Given the description of an element on the screen output the (x, y) to click on. 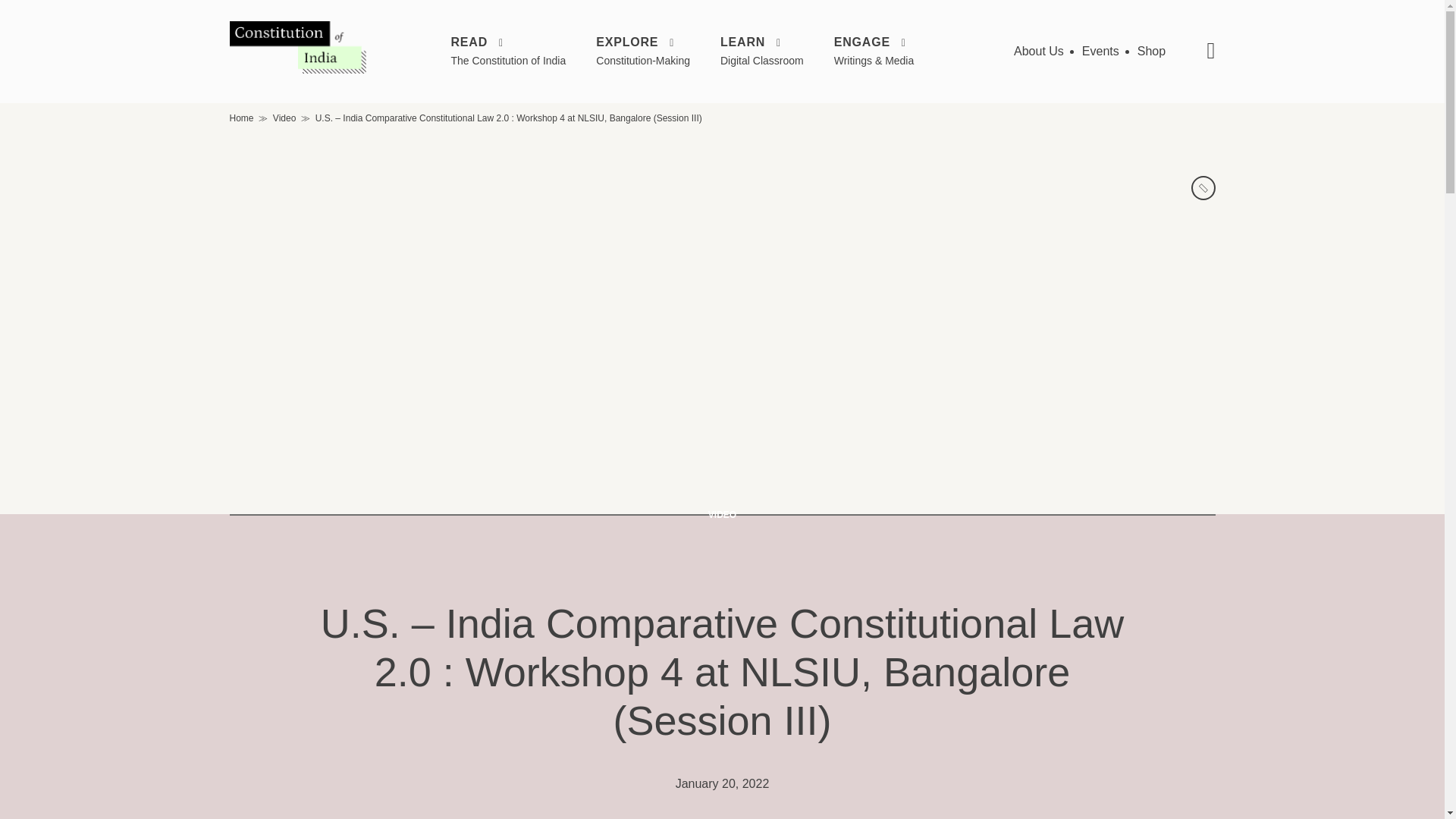
Home (240, 118)
READ (507, 42)
ENGAGE (874, 42)
Events (1100, 51)
About Us (1038, 51)
LEARN (761, 42)
EXPLORE (642, 42)
Video (284, 118)
Shop (1151, 51)
